Given the description of an element on the screen output the (x, y) to click on. 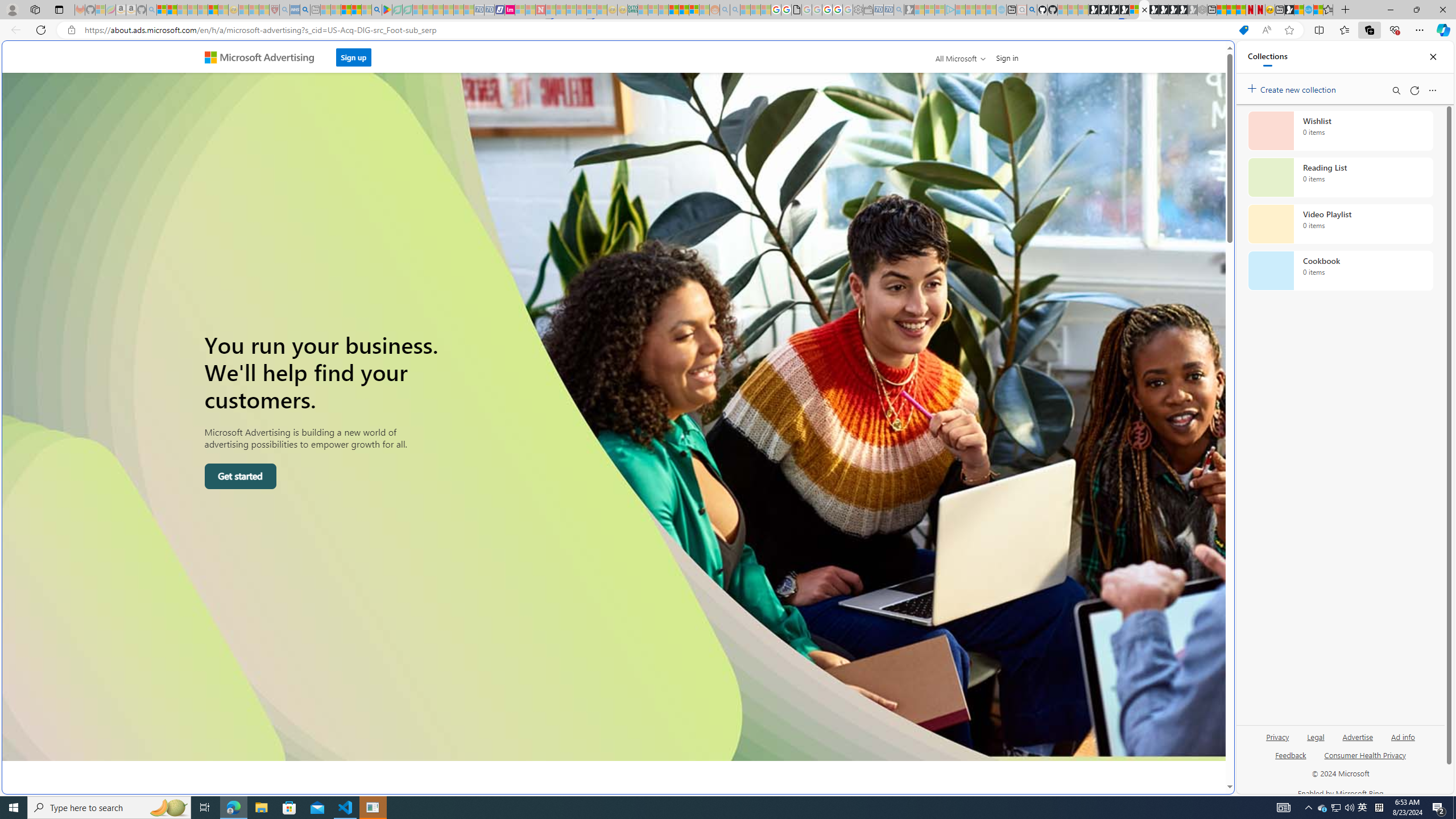
Sign up (353, 53)
